Given the description of an element on the screen output the (x, y) to click on. 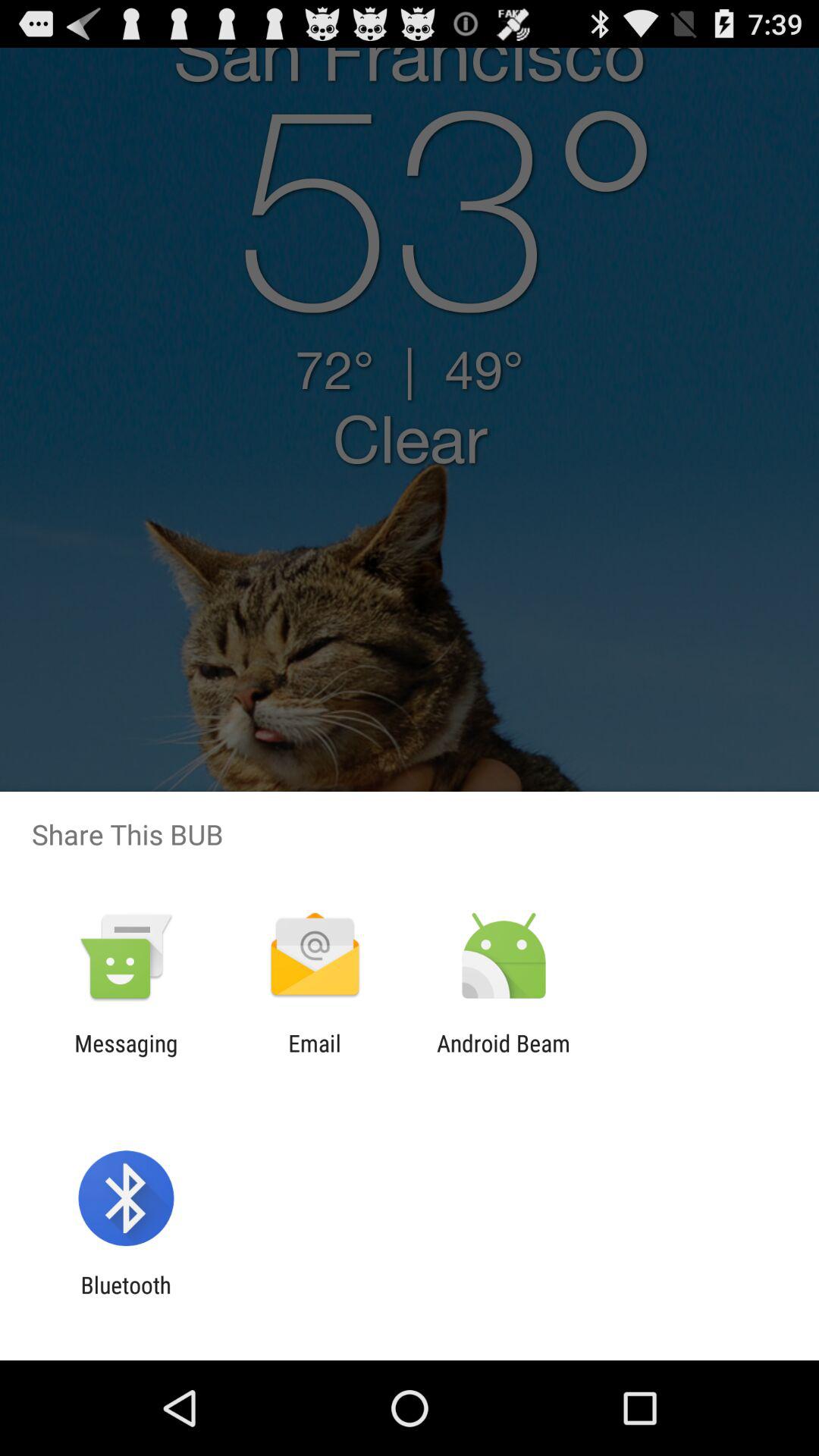
open messaging item (126, 1056)
